Given the description of an element on the screen output the (x, y) to click on. 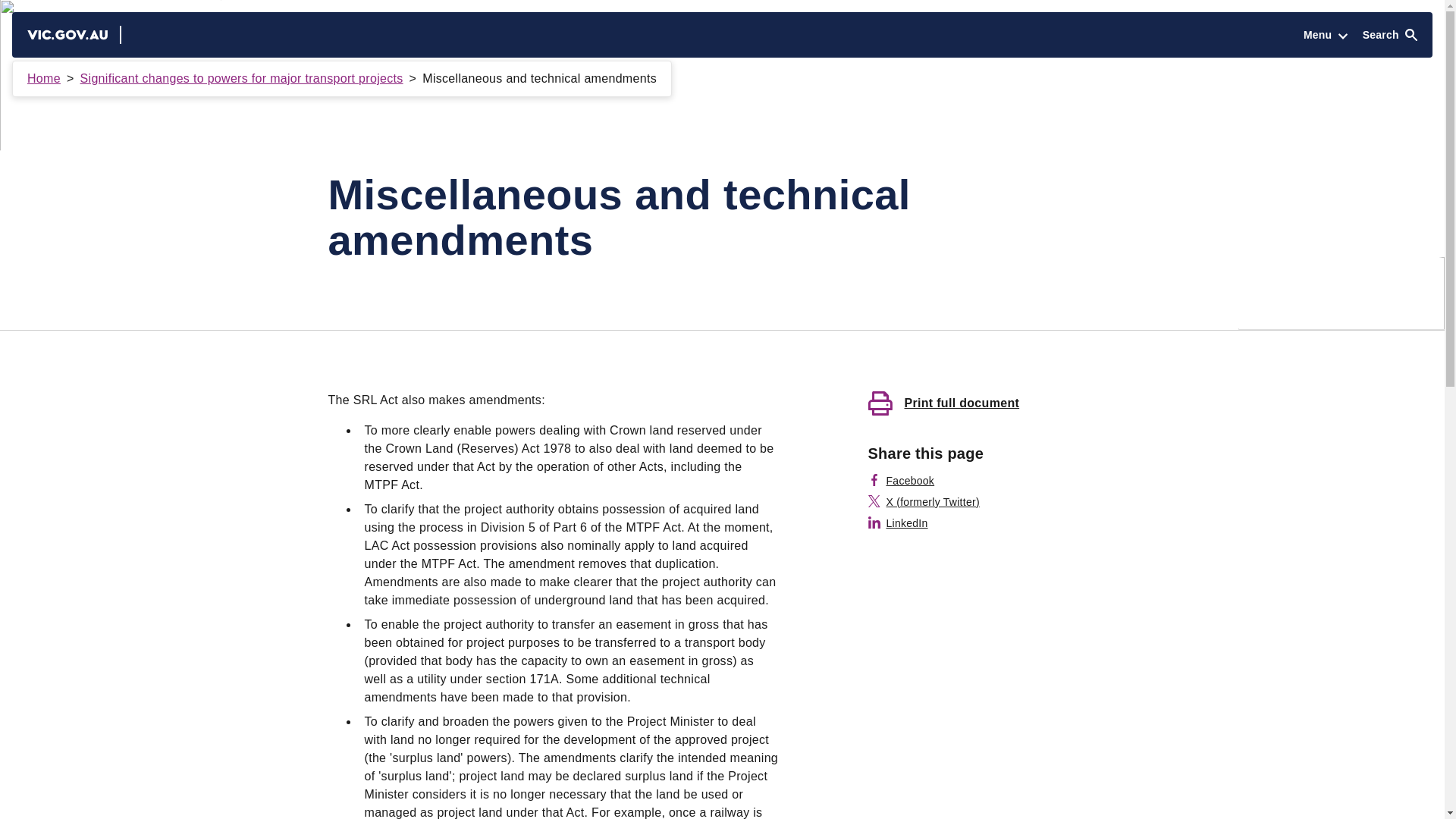
LinkedIn (897, 522)
Significant changes to powers for major transport projects (241, 78)
Facebook (900, 480)
Home (44, 78)
Print full document (991, 403)
